Given the description of an element on the screen output the (x, y) to click on. 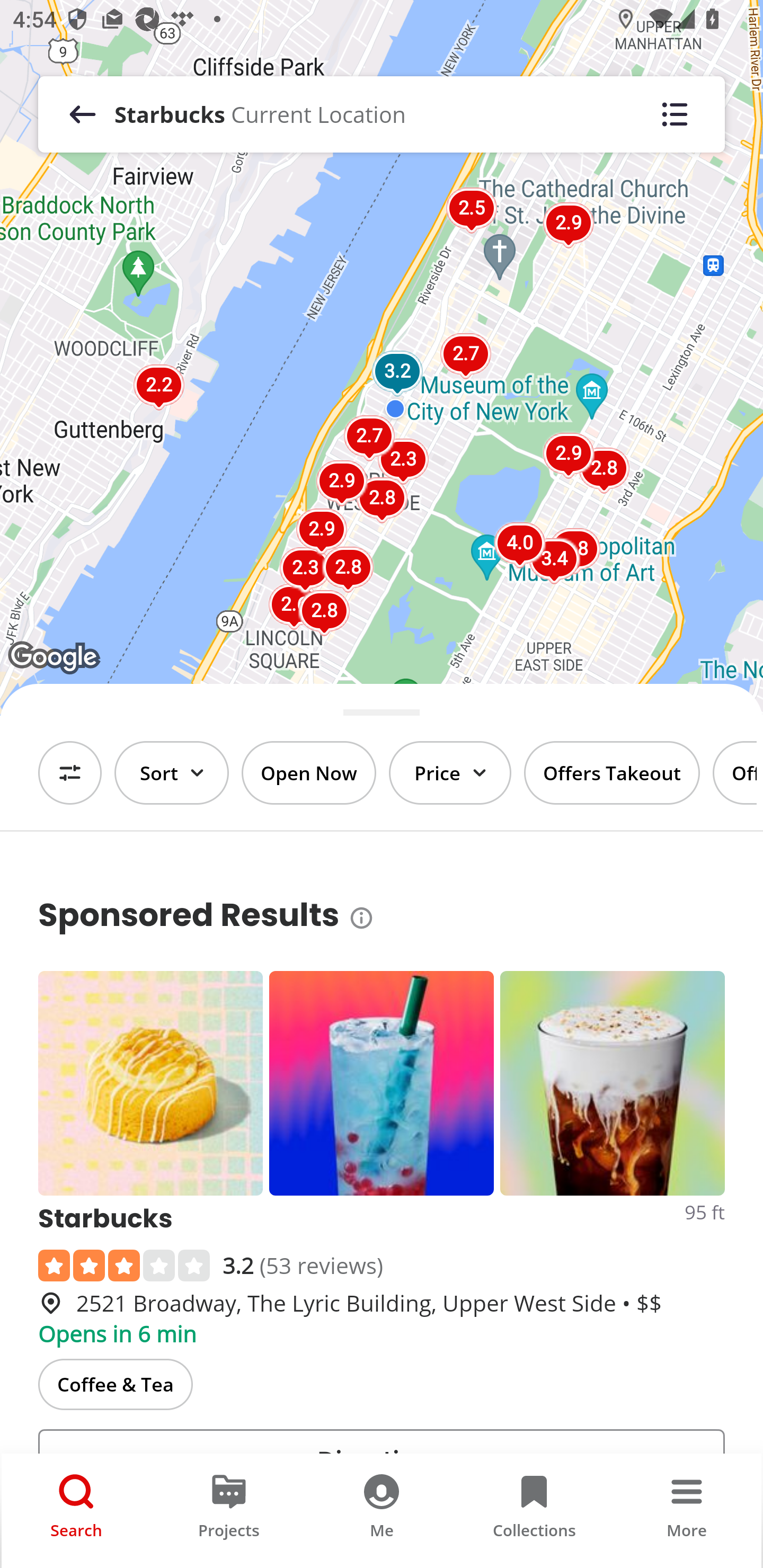
Sort (171, 772)
